Given the description of an element on the screen output the (x, y) to click on. 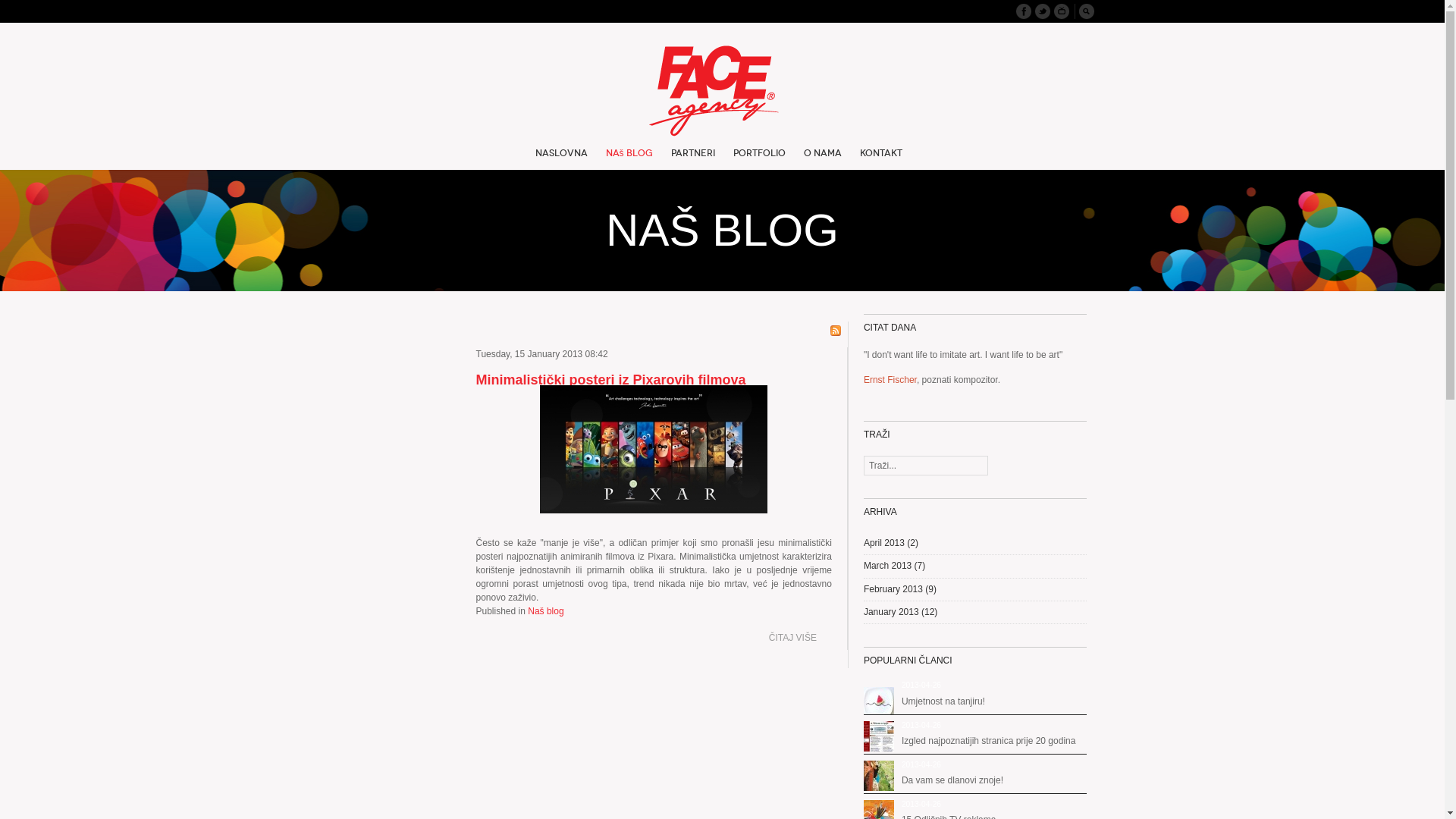
February 2013 (9) Element type: text (899, 588)
Subscribe to this RSS feed Element type: hover (835, 330)
Facebook Element type: text (1023, 10)
O nama Element type: text (822, 158)
Umjetnost na tanjiru! Element type: text (943, 701)
Da vam se dlanovi znoje! Element type: text (952, 780)
January 2013 (12) Element type: text (900, 611)
Twitter Element type: text (1041, 10)
Da vam se dlanovi znoje! Element type: hover (878, 775)
Kontakt Element type: text (880, 158)
Search Element type: text (1085, 10)
Linker Element type: text (1061, 10)
Naslovna Element type: text (561, 158)
Izgled najpoznatijih stranica prije 20 godina Element type: hover (878, 736)
Partneri Element type: text (692, 158)
April 2013 (2) Element type: text (890, 542)
Portfolio Element type: text (758, 158)
Face Agency Element type: hover (722, 90)
March 2013 (7) Element type: text (894, 565)
Izgled najpoznatijih stranica prije 20 godina Element type: text (988, 740)
Umjetnost na tanjiru! Element type: hover (878, 702)
